Given the description of an element on the screen output the (x, y) to click on. 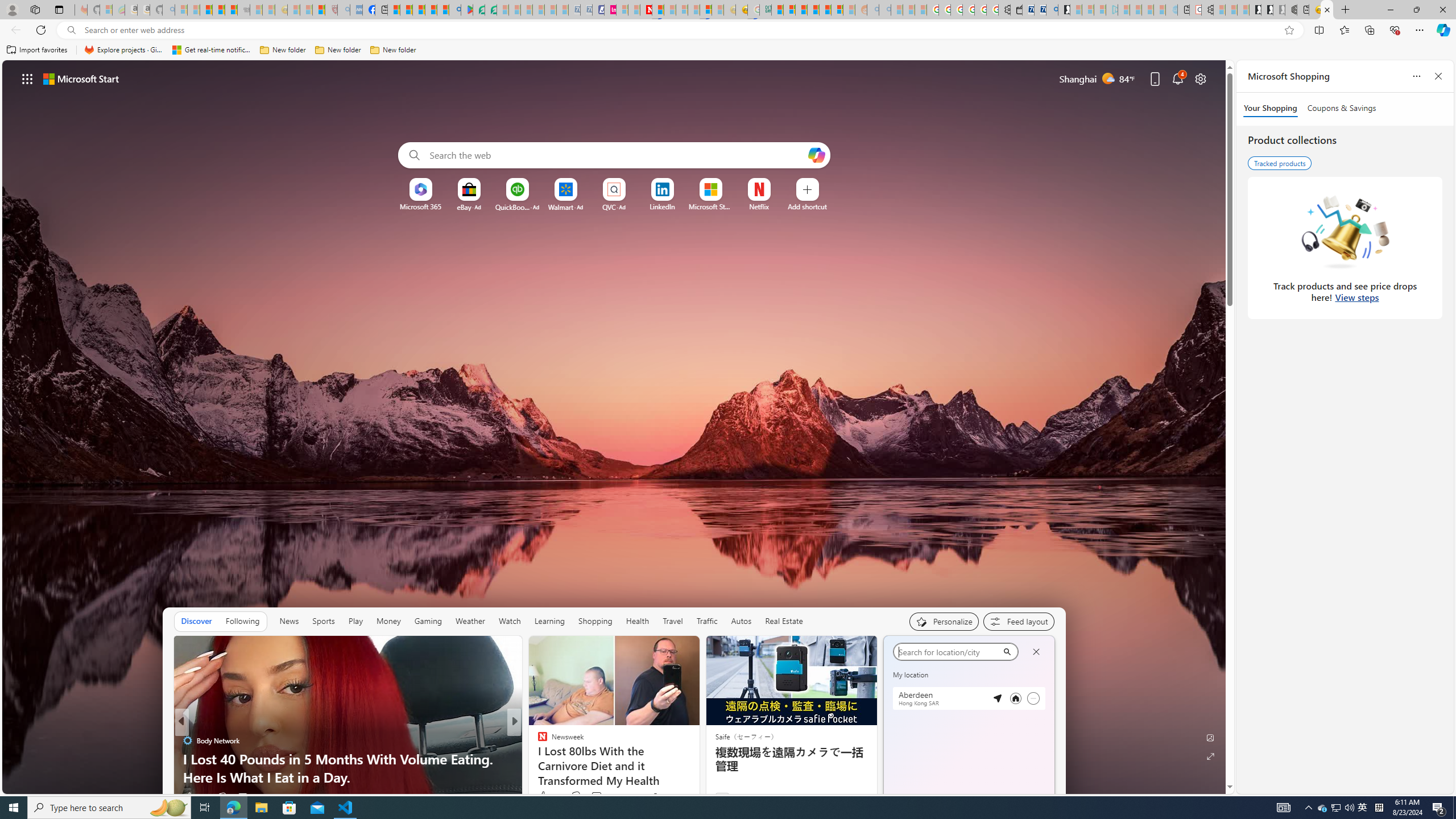
Shopping (595, 621)
Sunny (937, 742)
Microsoft start (81, 78)
See full forecast (1013, 799)
Food Republic (537, 758)
Local - MSN (318, 9)
